Given the description of an element on the screen output the (x, y) to click on. 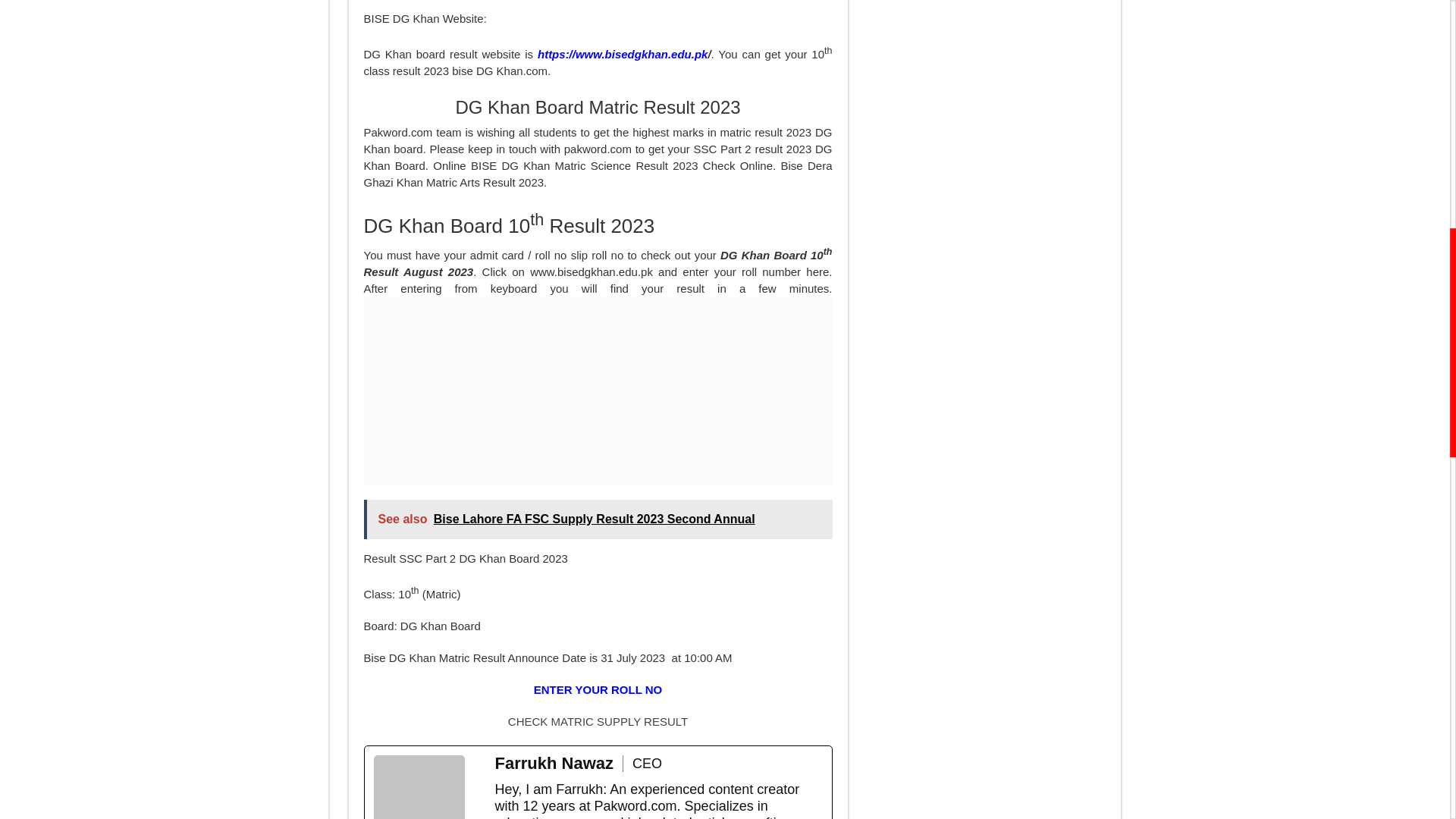
CHECK MATRIC SUPPLY RESULT (597, 721)
ENTER YOUR ROLL NO (598, 689)
